Given the description of an element on the screen output the (x, y) to click on. 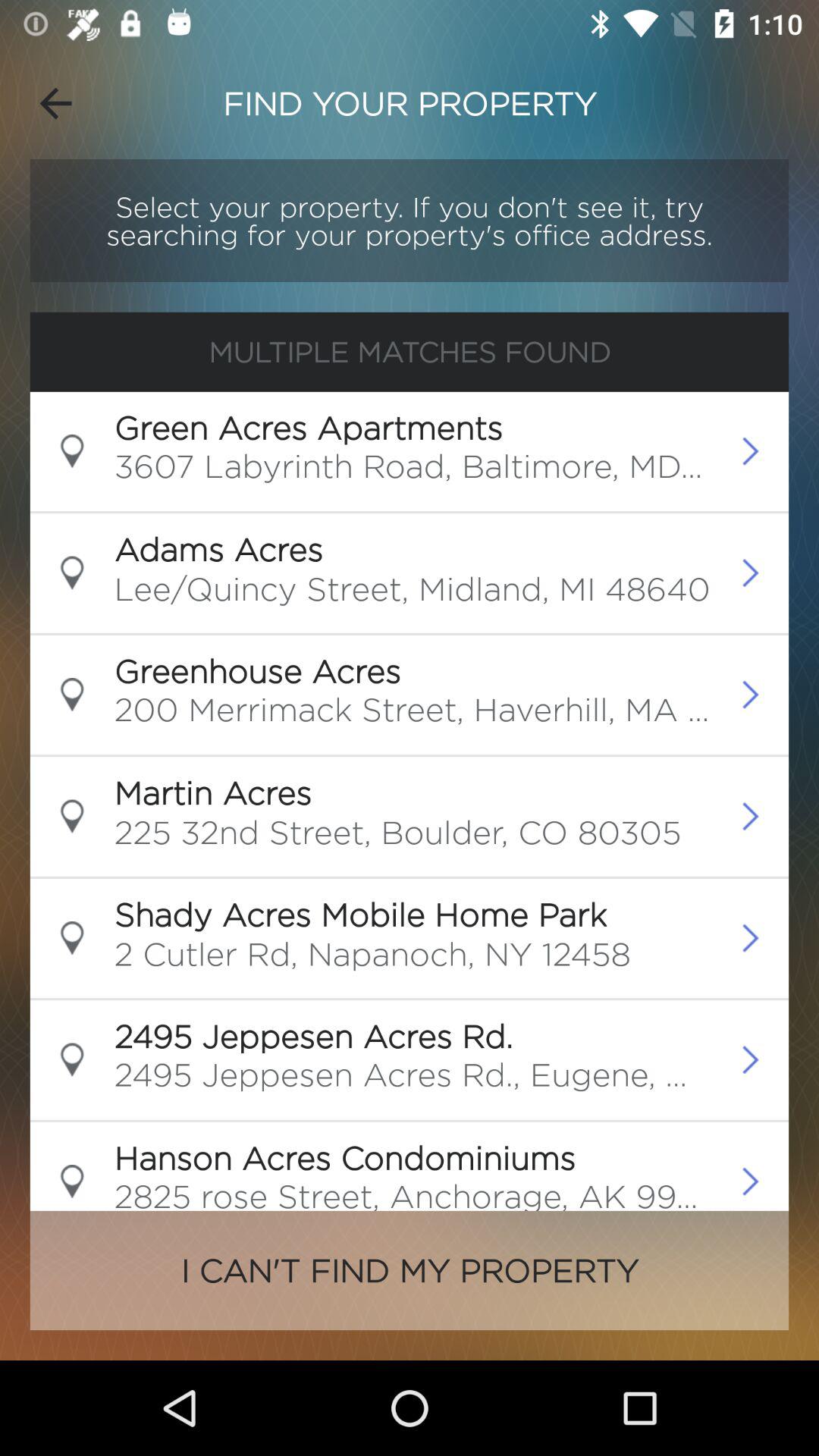
turn off the 200 merrimack street (413, 714)
